Given the description of an element on the screen output the (x, y) to click on. 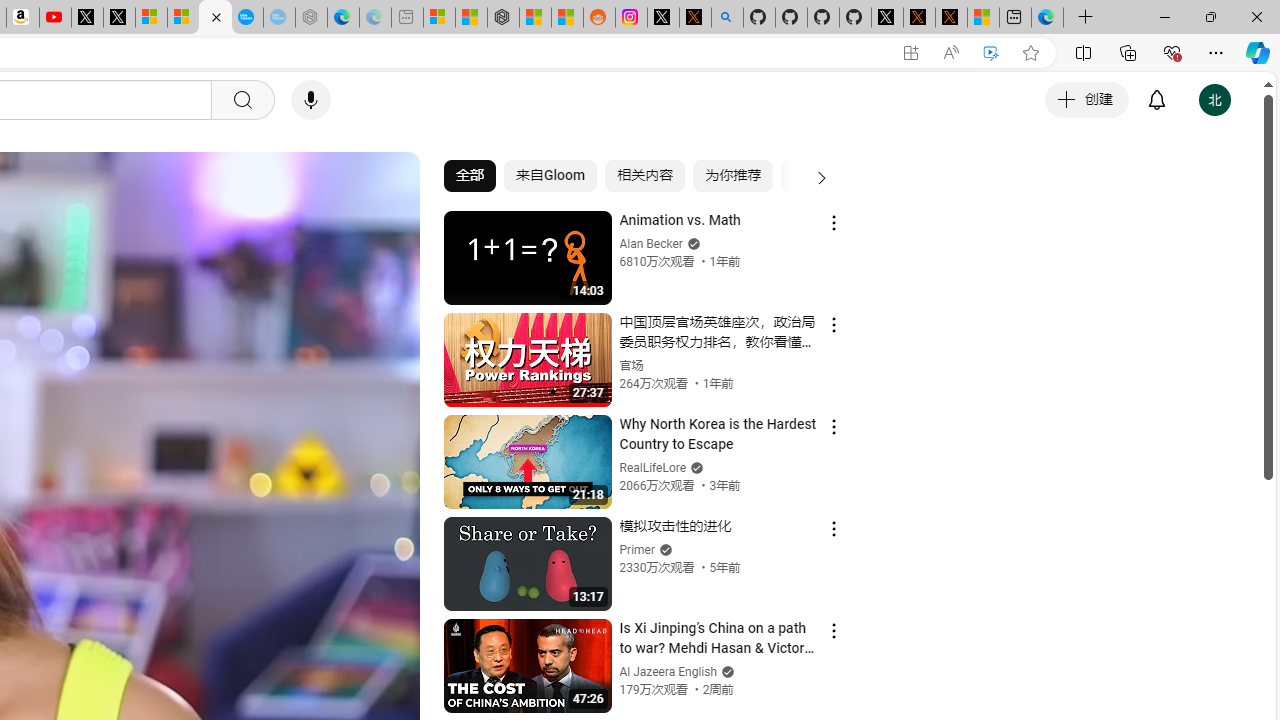
Microsoft account | Microsoft Account Privacy Settings (438, 17)
help.x.com | 524: A timeout occurred (694, 17)
Browser essentials (1171, 52)
Copilot (Ctrl+Shift+.) (1258, 52)
Restore (1210, 16)
New tab - Sleeping (407, 17)
Shanghai, China Weather trends | Microsoft Weather (566, 17)
Settings and more (Alt+F) (1215, 52)
Day 1: Arriving in Yemen (surreal to be here) - YouTube (54, 17)
